Given the description of an element on the screen output the (x, y) to click on. 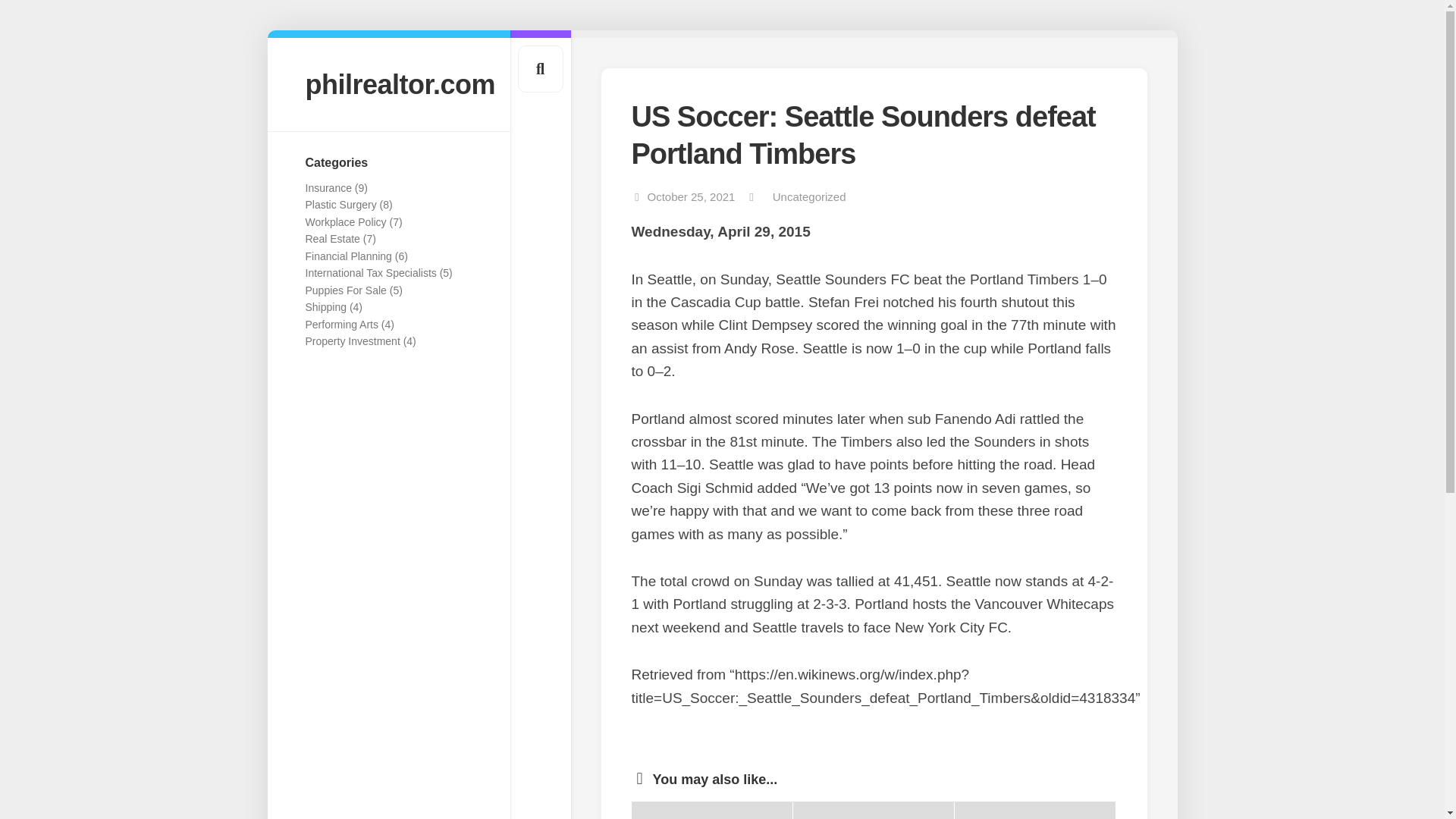
philrealtor.com (387, 83)
